Given the description of an element on the screen output the (x, y) to click on. 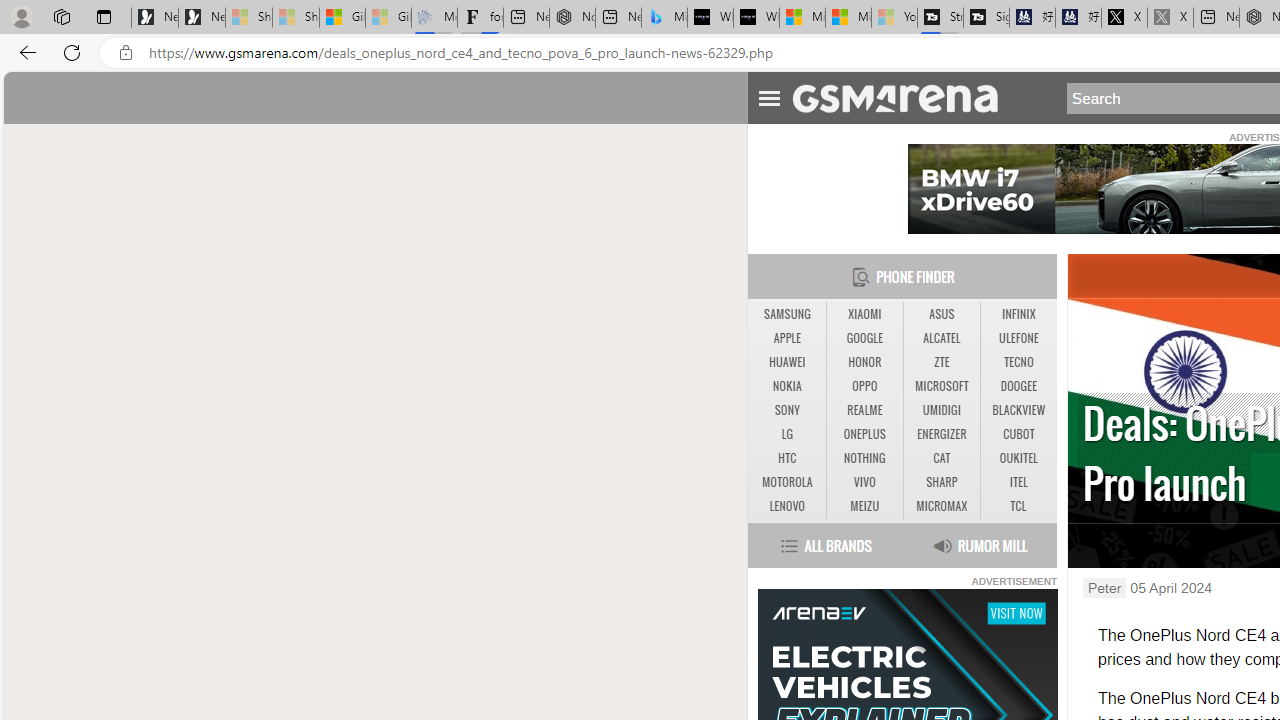
SHARP (941, 482)
DOOGEE (1018, 386)
VIVO (864, 483)
INFINIX (1018, 314)
MEIZU (863, 506)
NOTHING (864, 458)
HTC (786, 457)
SONY (786, 410)
XIAOMI (864, 314)
UMIDIGI (941, 411)
